Given the description of an element on the screen output the (x, y) to click on. 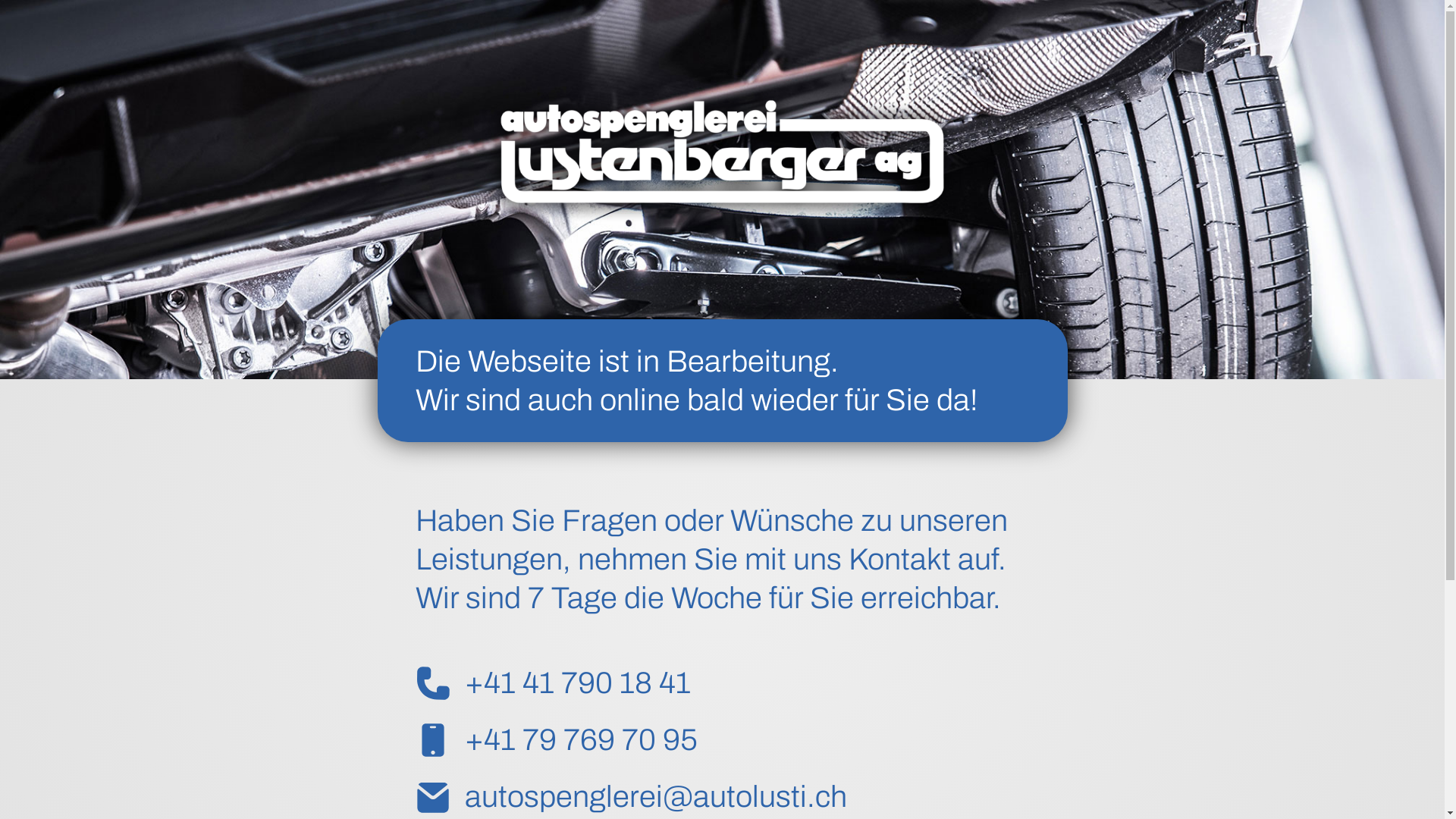
+41 79 769 70 95 Element type: text (722, 739)
+41 41 790 18 41 Element type: text (722, 683)
